Given the description of an element on the screen output the (x, y) to click on. 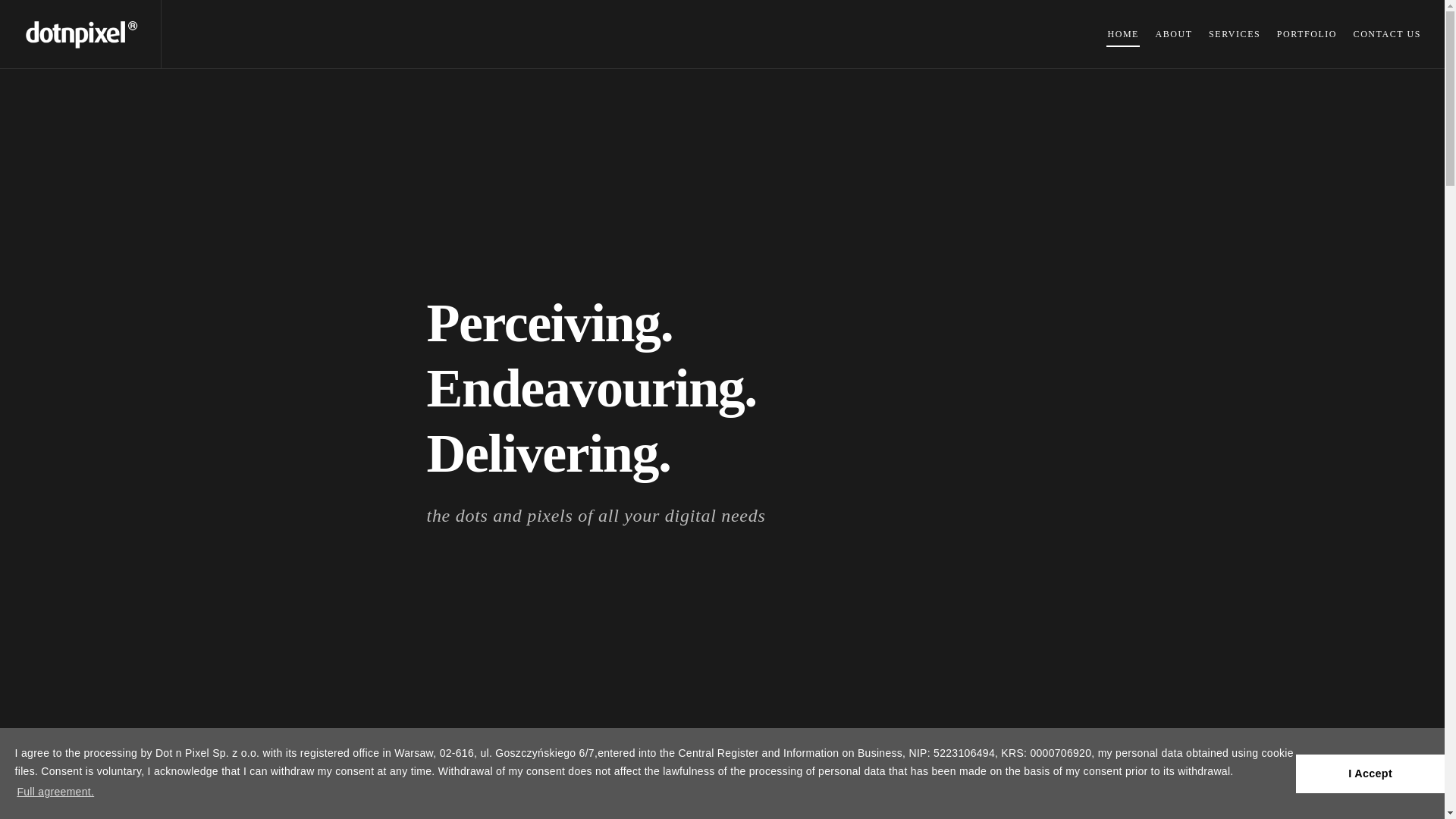
ABOUT (1173, 33)
Full agreement. (55, 791)
SERVICES (1234, 33)
HOME (1123, 33)
PORTFOLIO (1307, 33)
CONTACT US (1387, 33)
